Given the description of an element on the screen output the (x, y) to click on. 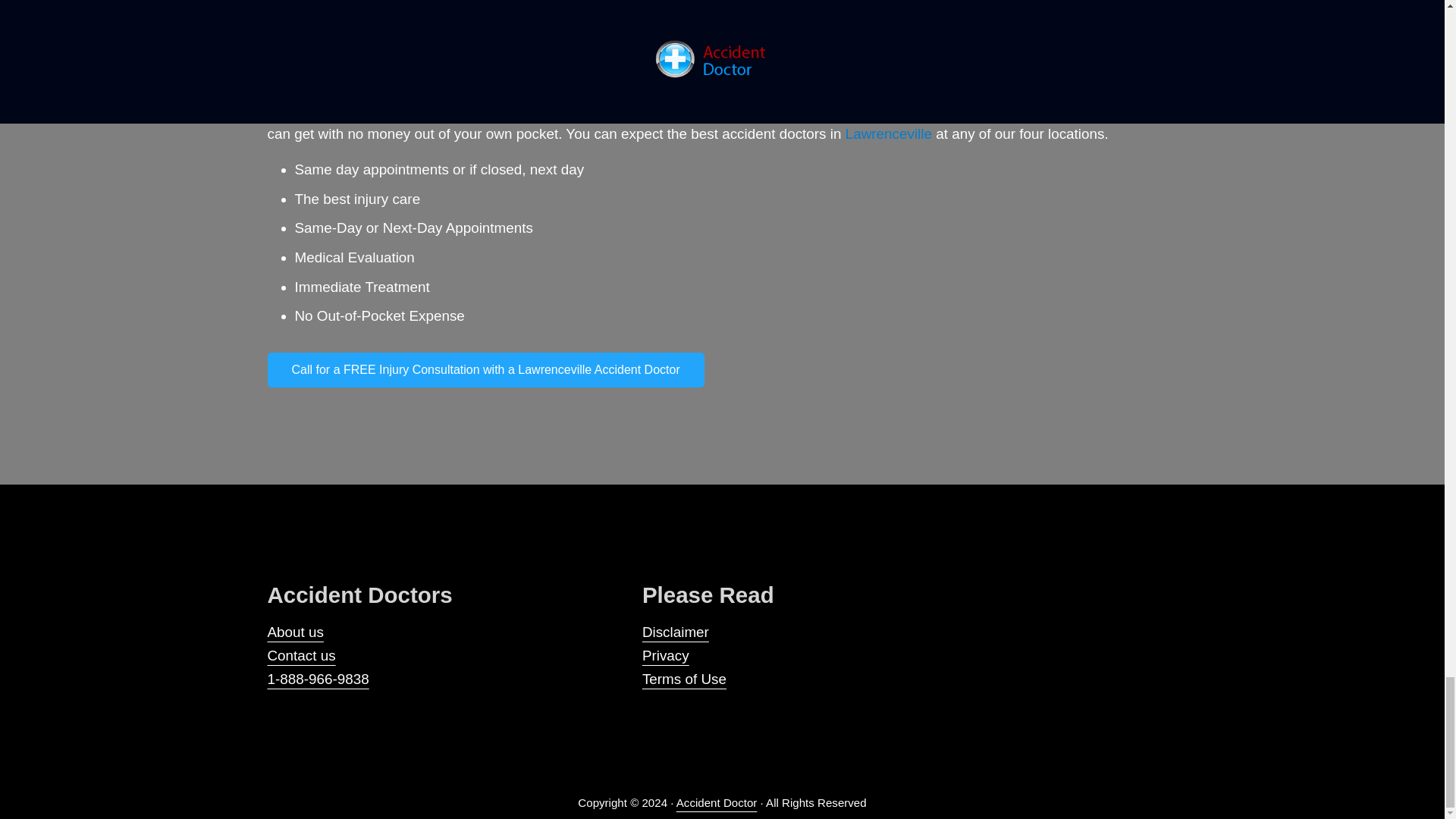
Disclaimer (675, 631)
Lawrenceville (888, 133)
About us (294, 631)
Privacy (665, 655)
Terms of Use (684, 678)
1-888-966-9838 (317, 678)
Accident Doctor (717, 802)
Contact us (300, 655)
